Given the description of an element on the screen output the (x, y) to click on. 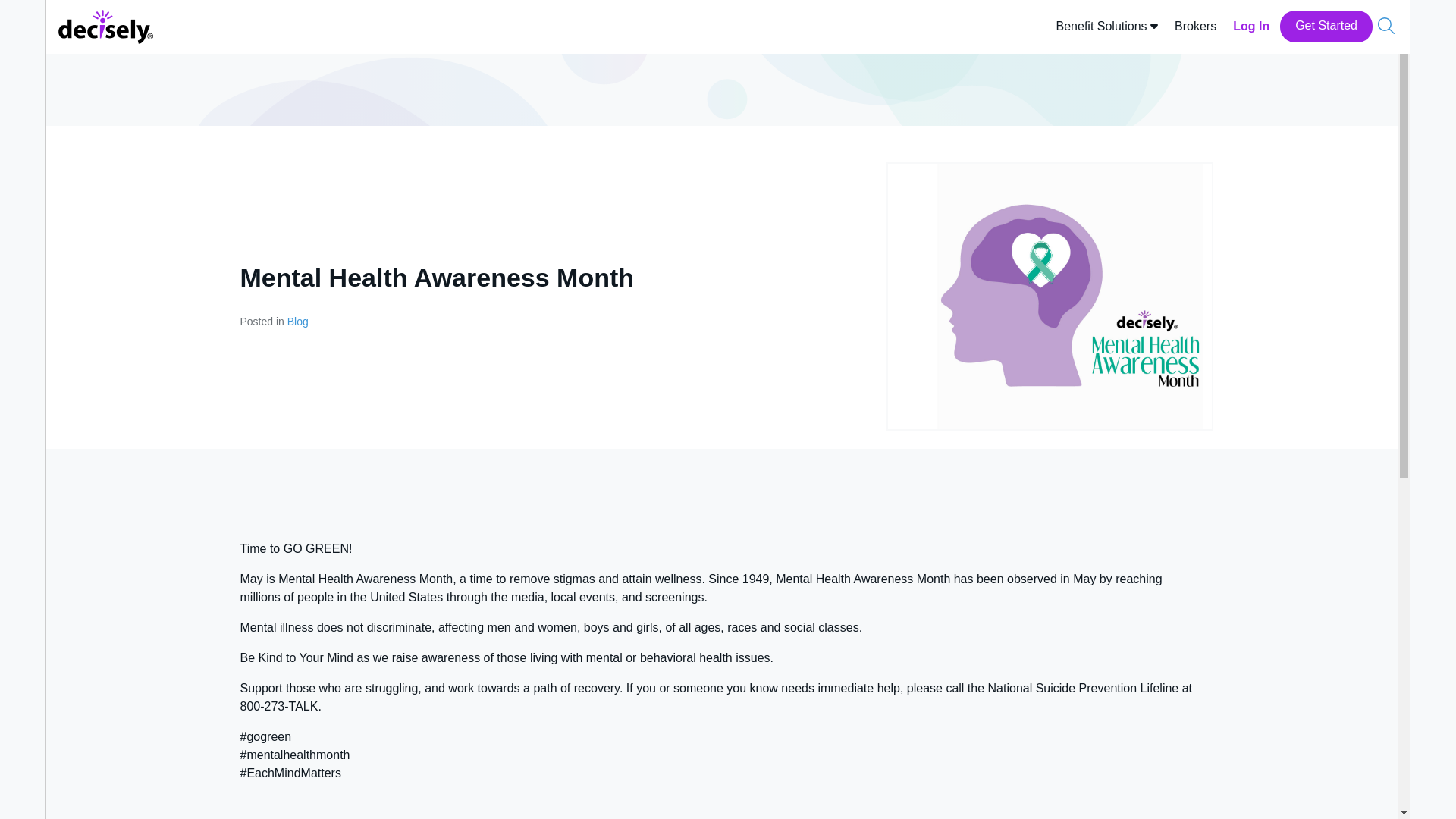
Get Started (1326, 26)
Benefit Solutions (1106, 26)
Log In (1251, 26)
Blog (297, 321)
Brokers (1196, 26)
